Given the description of an element on the screen output the (x, y) to click on. 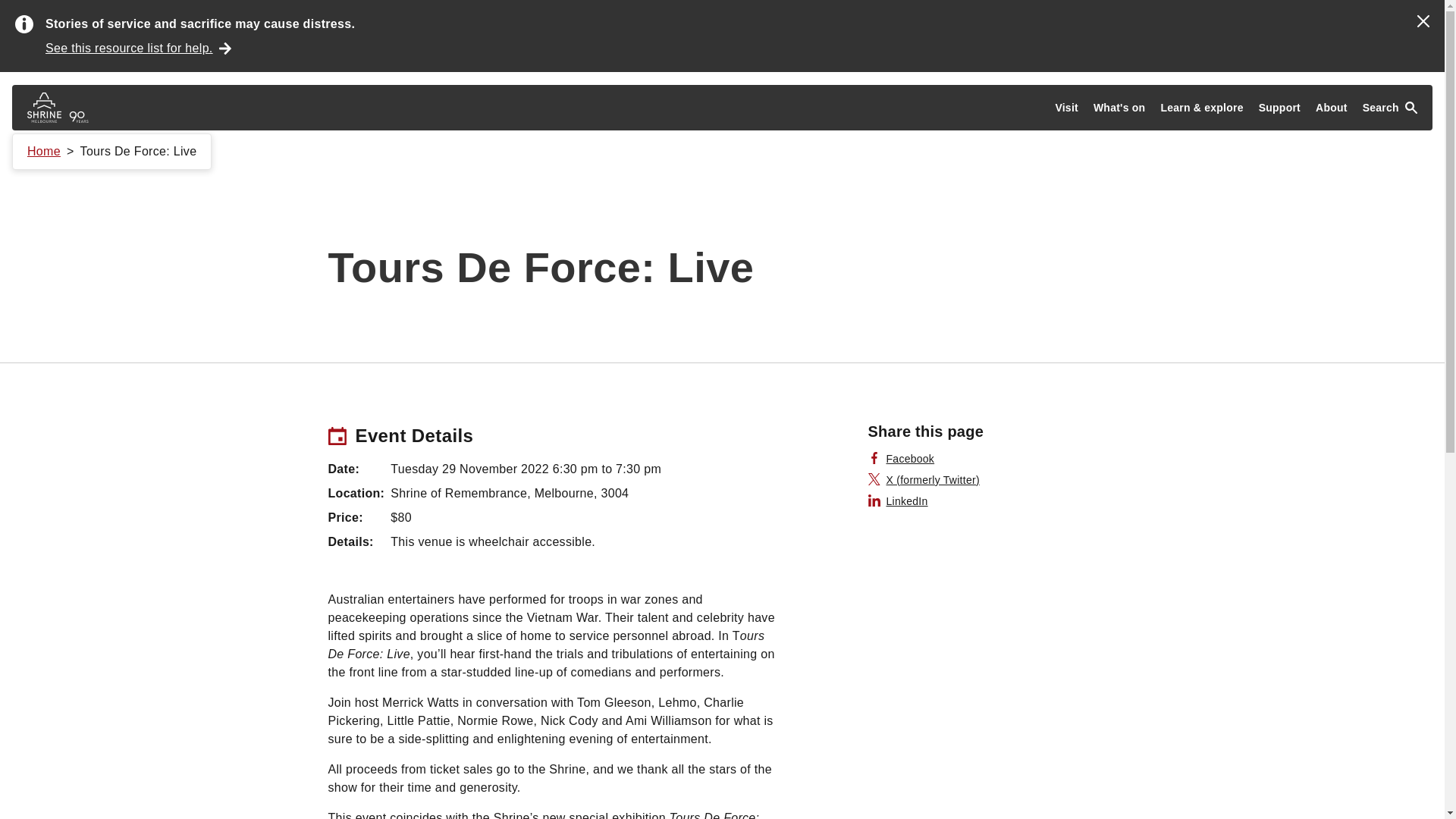
LinkedIn (897, 500)
See this resource list for help. (138, 48)
About (1331, 107)
What's on (1119, 107)
Facebook (900, 458)
Support (1278, 107)
Home (44, 151)
